Given the description of an element on the screen output the (x, y) to click on. 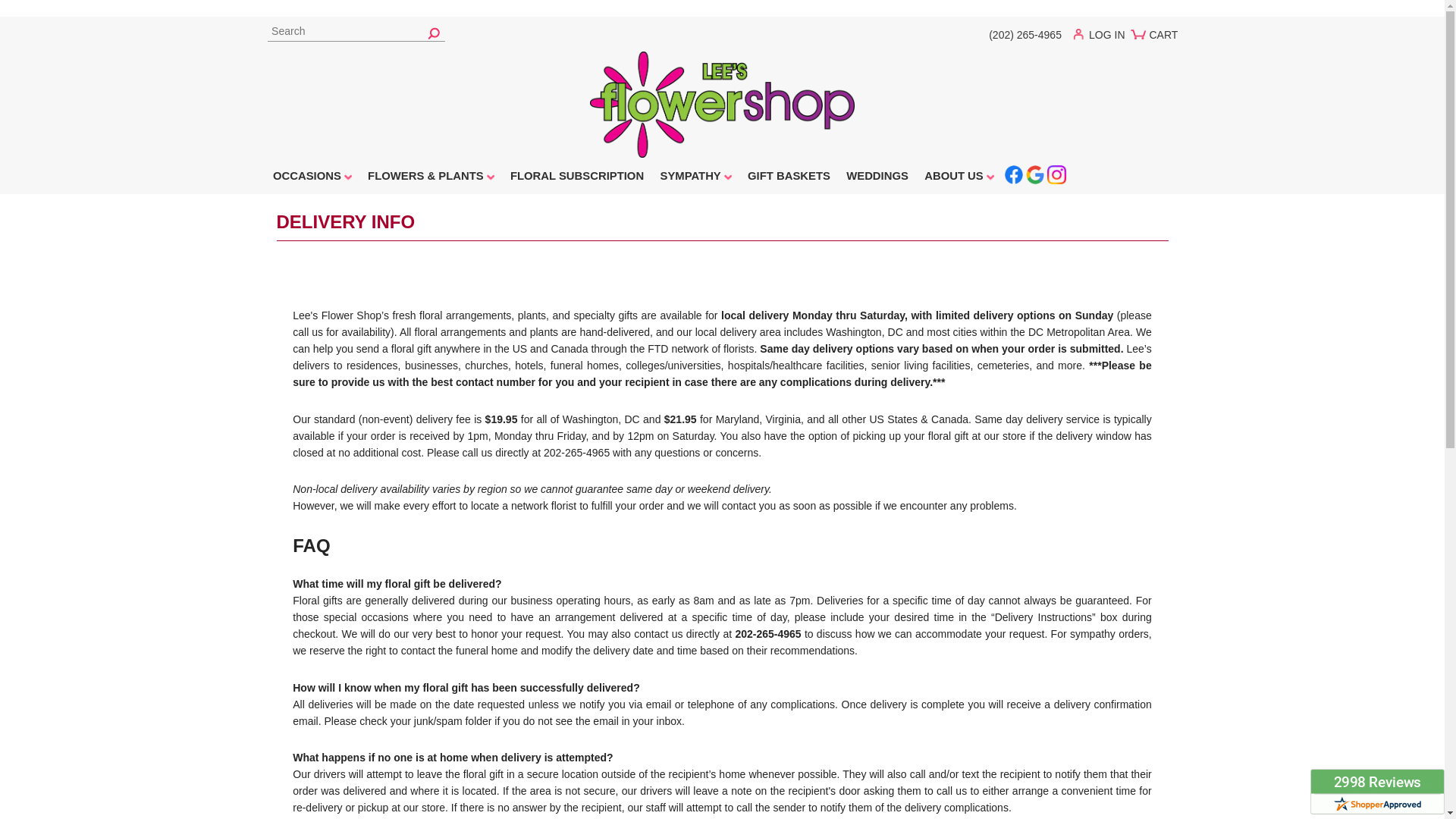
log In (1103, 37)
Go (434, 32)
SYMPATHY (694, 177)
FLORAL SUBSCRIPTION (577, 177)
OCCASIONS (311, 177)
Search (355, 31)
CART (1156, 40)
LOG IN (1103, 37)
